Given the description of an element on the screen output the (x, y) to click on. 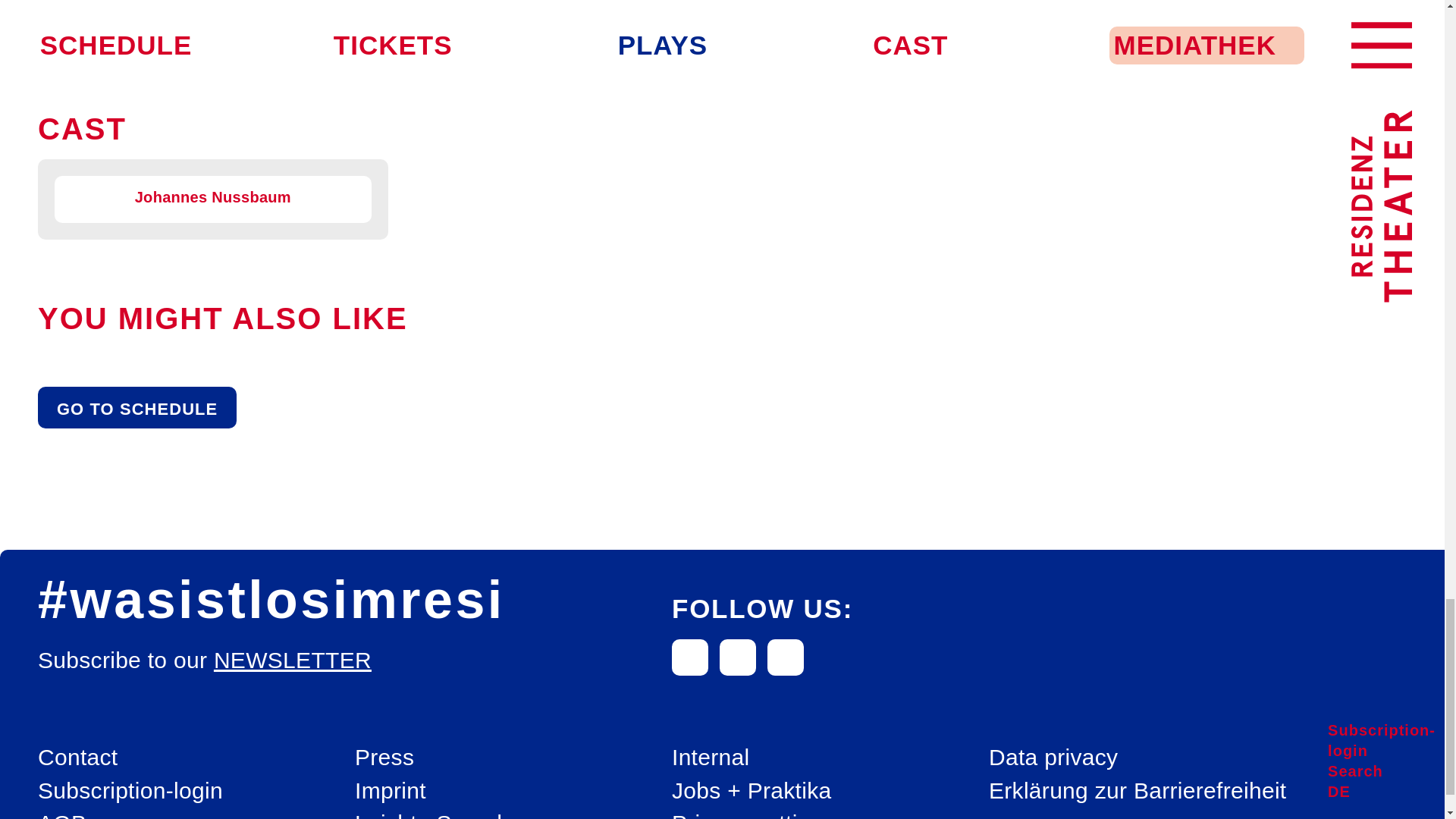
Contact (77, 757)
AGB (61, 813)
Internal (710, 757)
Data privacy (1053, 757)
Subscription-login (129, 790)
Press (384, 757)
Imprint (390, 790)
Leichte Sprache (438, 813)
